Given the description of an element on the screen output the (x, y) to click on. 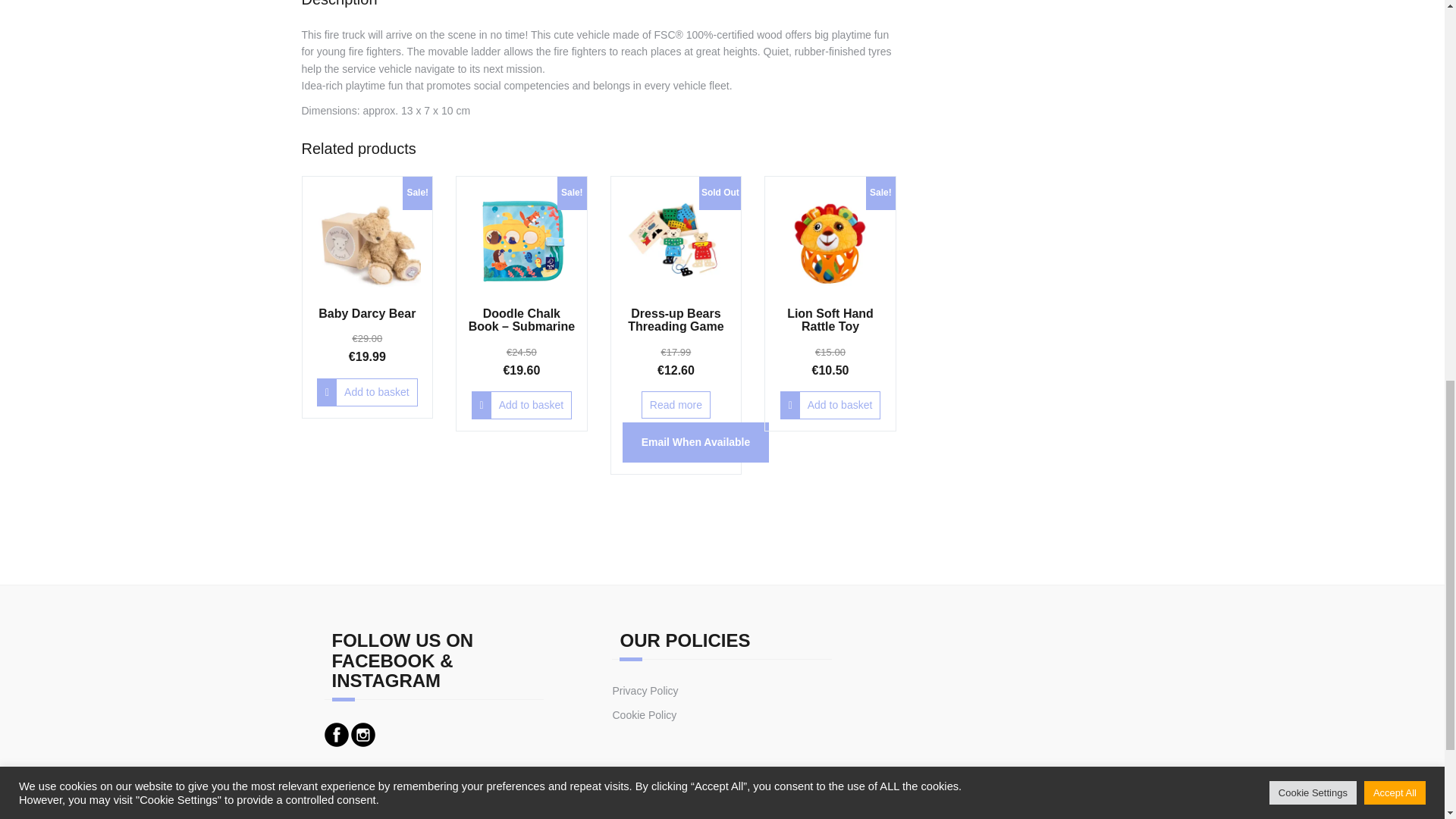
Email When Available (696, 441)
Add to basket (367, 392)
Add to basket (521, 405)
Email When Available (696, 441)
Add to basket (830, 405)
Read more (676, 404)
